Given the description of an element on the screen output the (x, y) to click on. 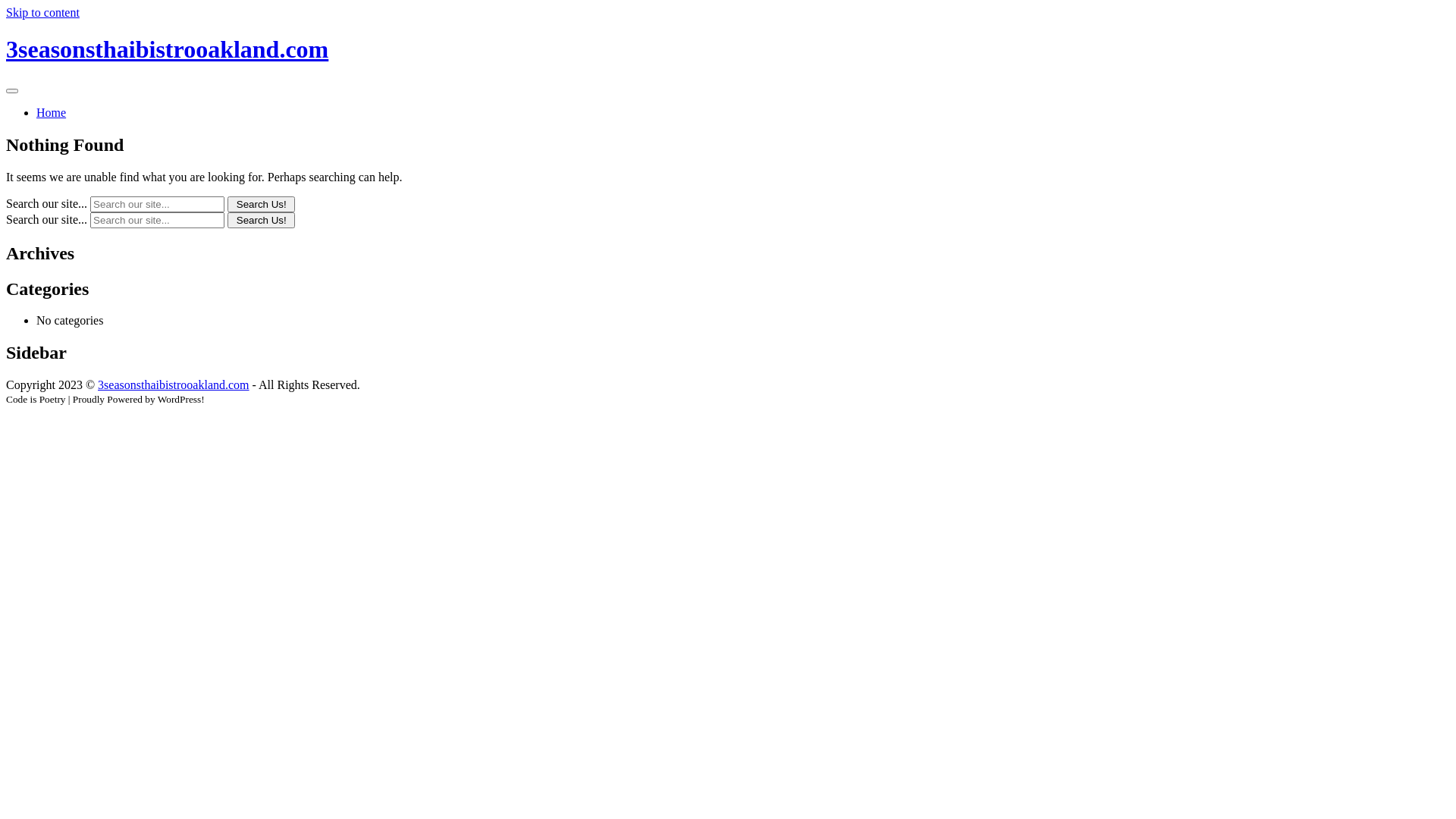
3seasonsthaibistrooakland.com Element type: text (167, 48)
 Search Us!  Element type: text (260, 204)
3seasonsthaibistrooakland.com Element type: text (173, 384)
 Search Us!  Element type: text (260, 220)
Home Element type: text (50, 112)
Skip to content Element type: text (42, 12)
